Given the description of an element on the screen output the (x, y) to click on. 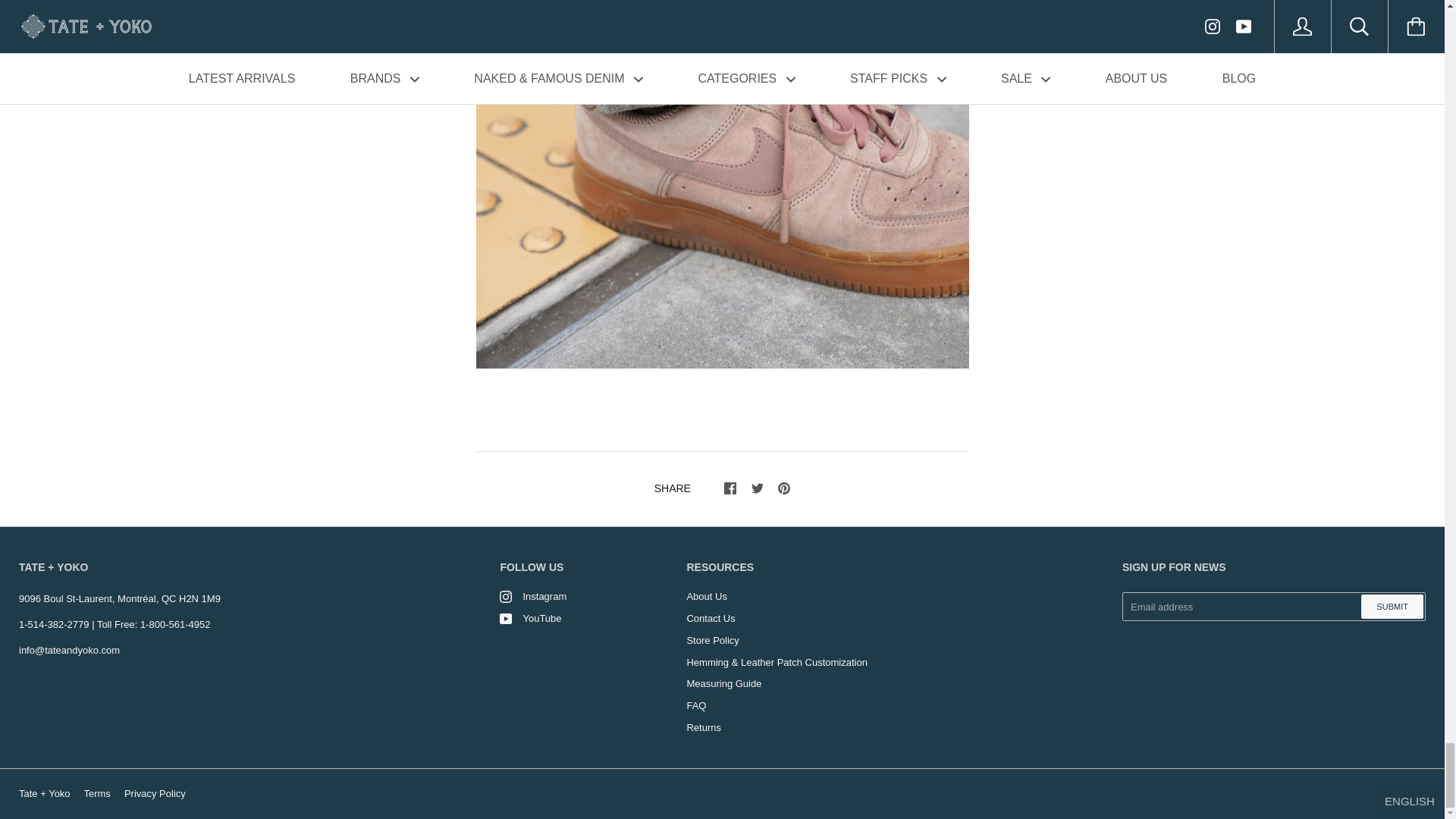
YouTube (505, 618)
Instagram (505, 596)
